Given the description of an element on the screen output the (x, y) to click on. 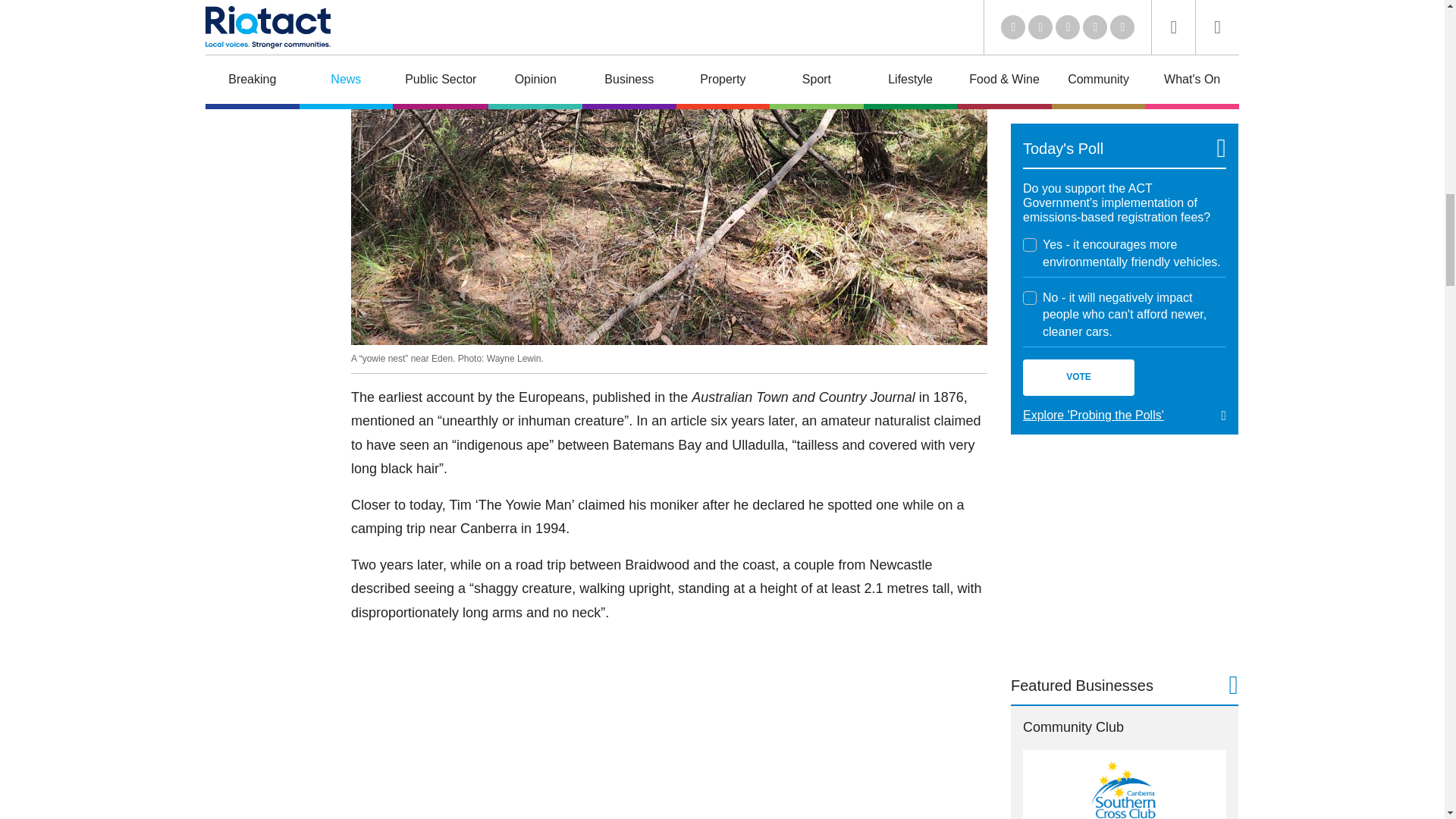
   Vote    (1078, 377)
3rd party ad content (1124, 553)
Zango Sales (1124, 49)
2042 (1029, 297)
2041 (1029, 244)
